Given the description of an element on the screen output the (x, y) to click on. 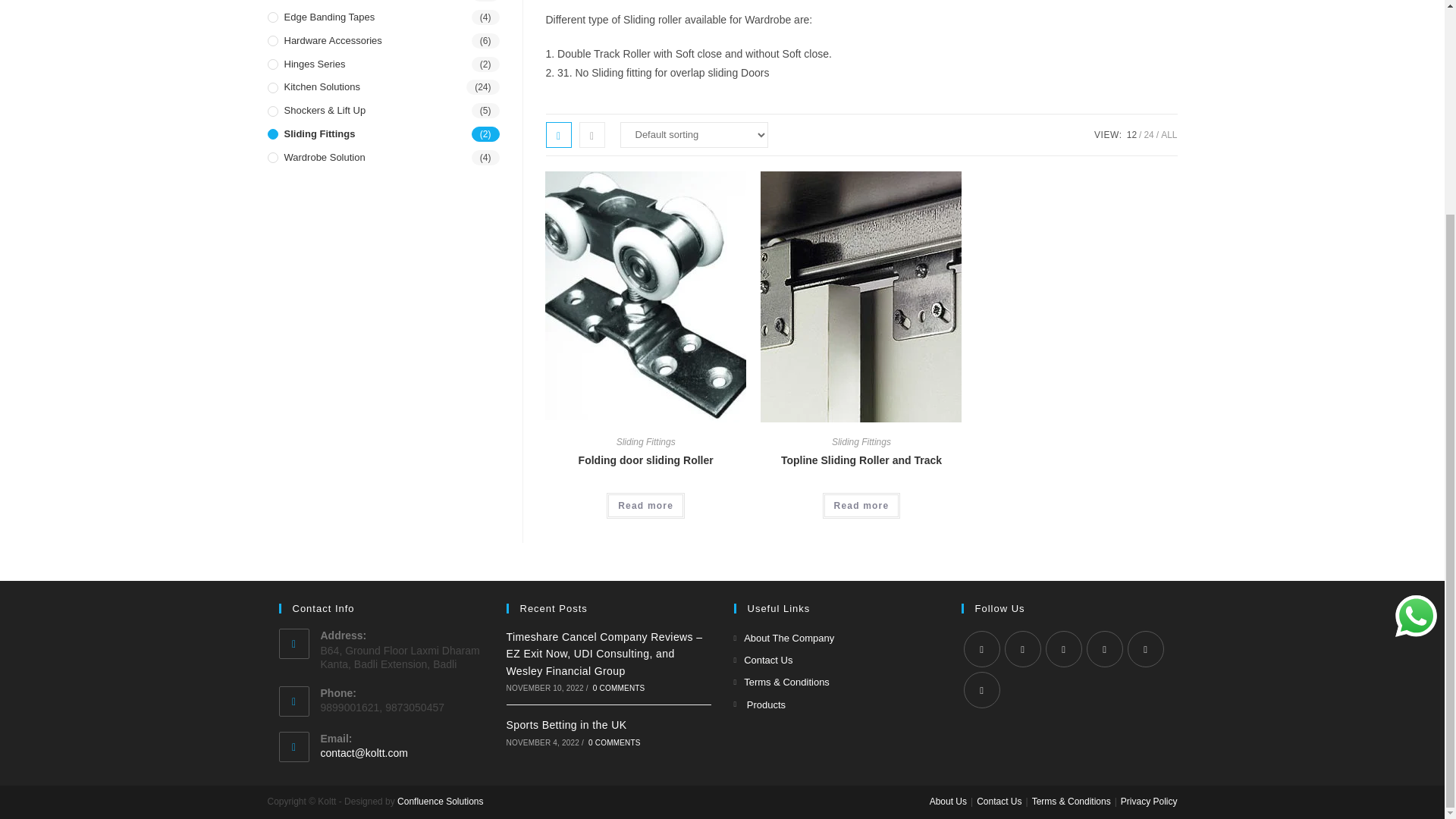
List view (592, 134)
Grid view (559, 134)
